Given the description of an element on the screen output the (x, y) to click on. 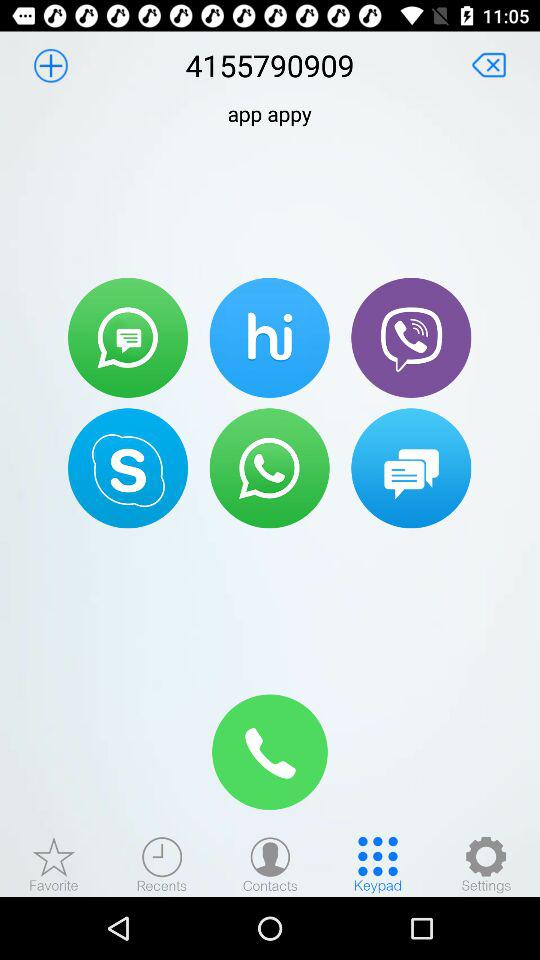
recents (161, 864)
